Given the description of an element on the screen output the (x, y) to click on. 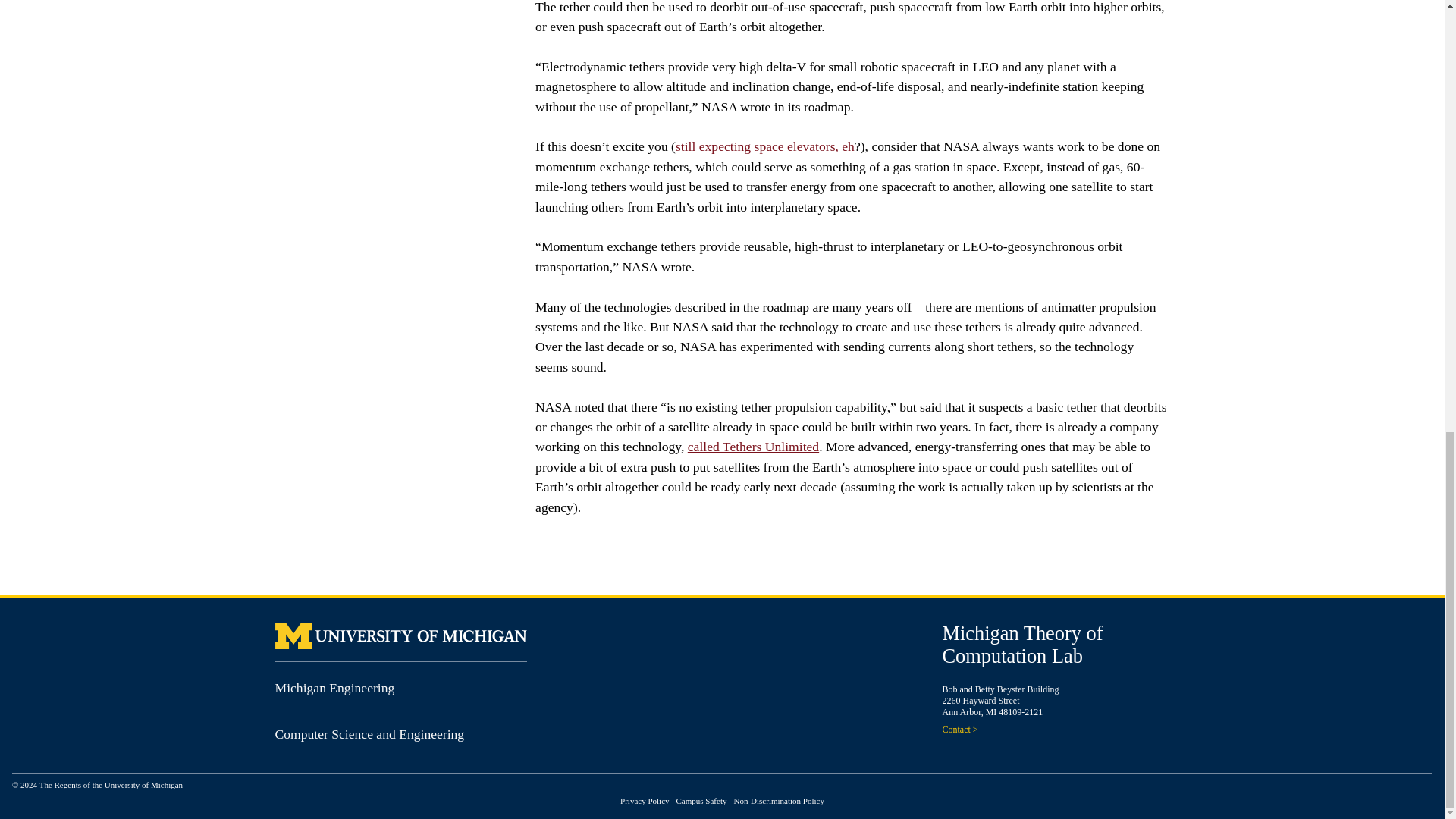
The Regents of the University of Michigan (111, 784)
Campus Safety (701, 800)
Computer Science and Engineering (369, 734)
Privacy Policy (644, 800)
still expecting space elevators, eh (764, 145)
Michigan Theory of Computation Lab (1022, 644)
called Tethers Unlimited (752, 446)
Michigan Engineering (334, 687)
